Given the description of an element on the screen output the (x, y) to click on. 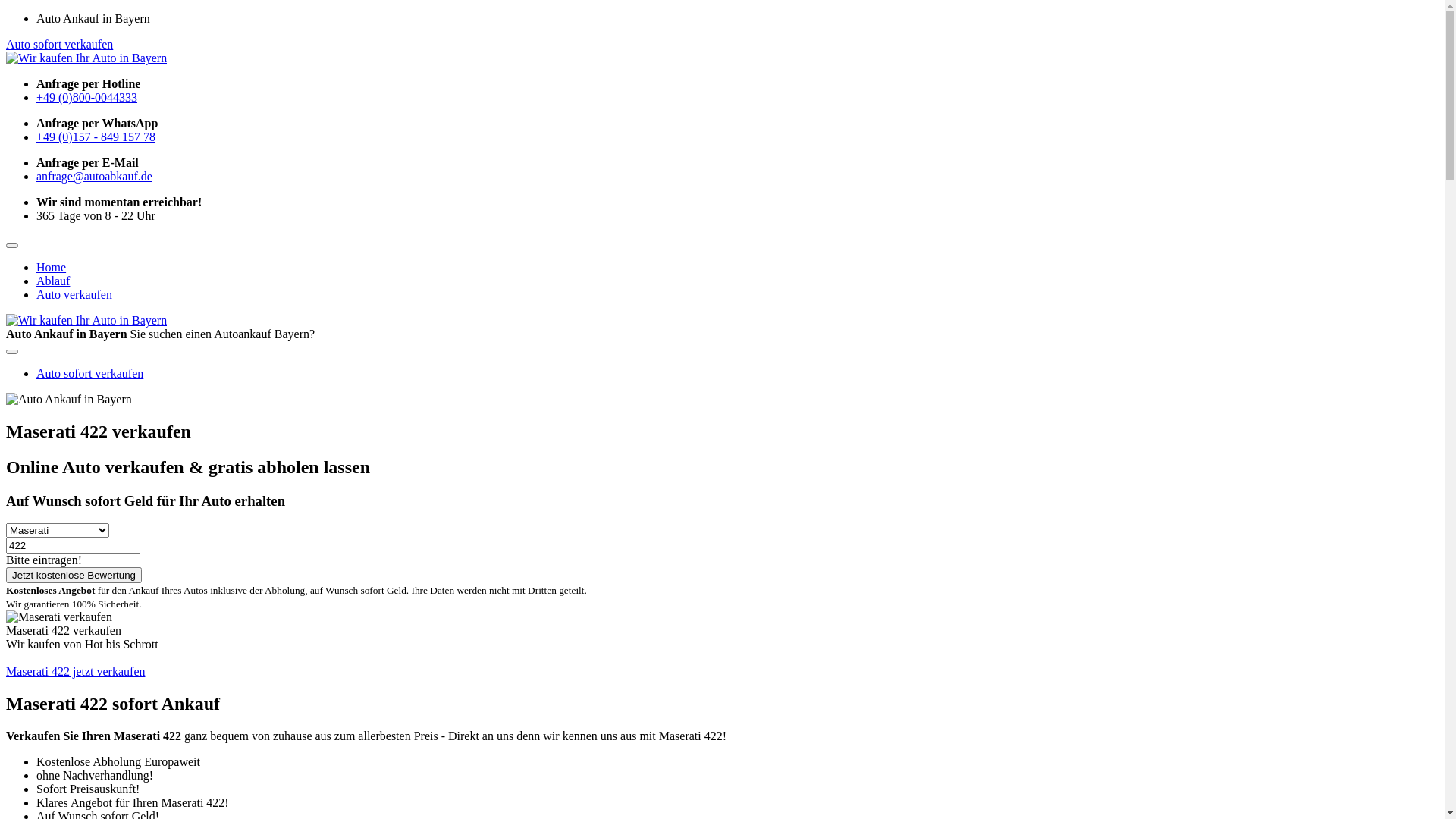
+49 (0)157 - 849 157 78 Element type: text (95, 136)
Wir kaufen Ihr Auto in Bayern Element type: hover (86, 319)
Jetzt kostenlose Bewertung Element type: text (73, 575)
Auto sofort verkaufen Element type: text (89, 373)
+49 (0)800-0044333 Element type: text (86, 97)
Maserati verkaufen Element type: hover (59, 616)
Auto verkaufen Element type: text (74, 294)
Auto Ankauf in Bayern Element type: hover (68, 399)
Wir kaufen Ihr Auto in Bayern Element type: hover (86, 57)
Ablauf Element type: text (52, 280)
Maserati verkaufen Element type: hover (59, 617)
anfrage@autoabkauf.de Element type: text (94, 175)
Wir kaufen Ihr Auto in Bayern Element type: hover (86, 320)
Auto sofort verkaufen Element type: text (59, 43)
Home Element type: text (50, 266)
Auto Ankauf in Bayern Element type: hover (68, 398)
Wir kaufen Ihr Auto in Bayern Element type: hover (86, 58)
Maserati 422 jetzt verkaufen Element type: text (75, 671)
